Given the description of an element on the screen output the (x, y) to click on. 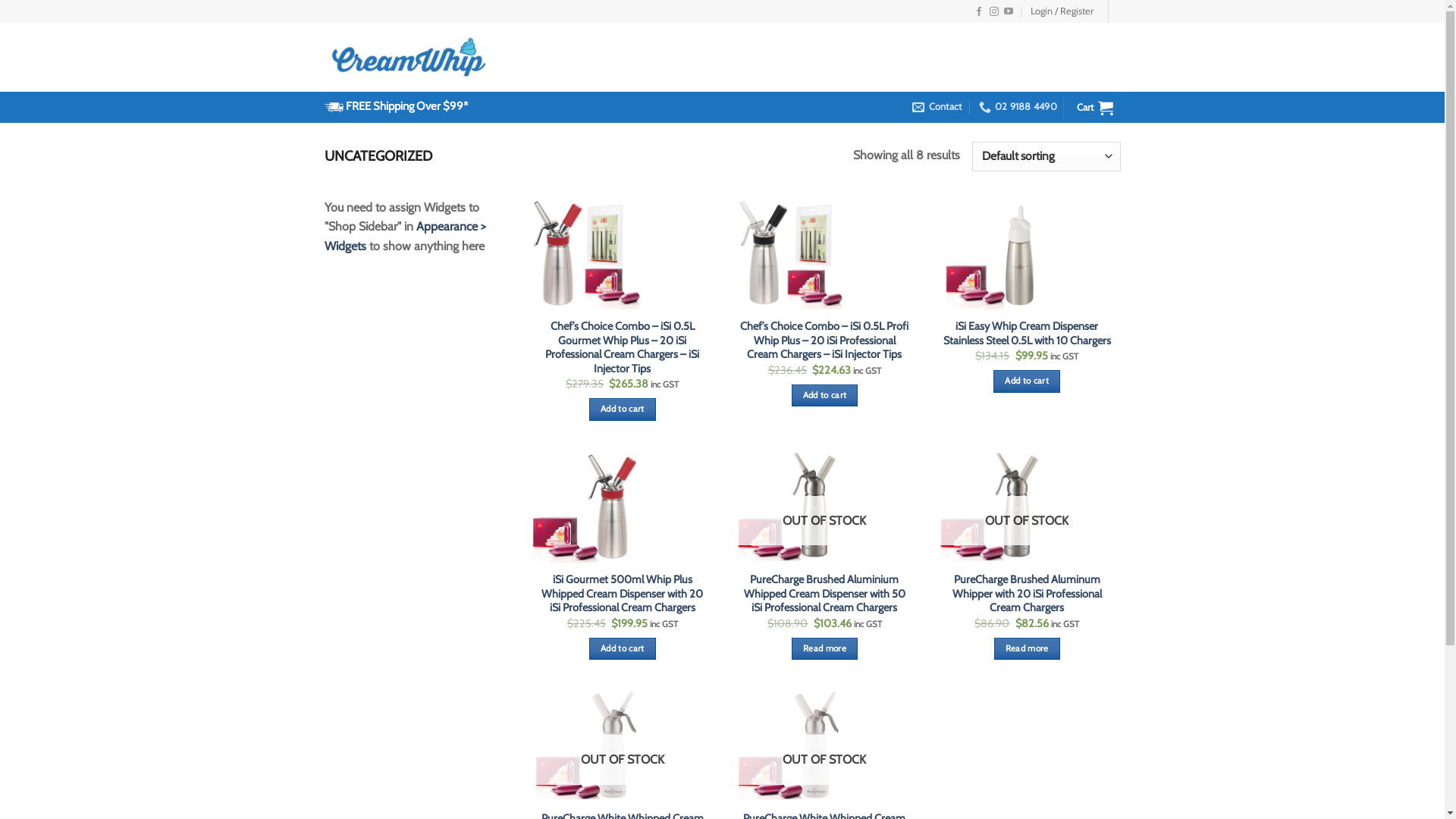
Appearance > Widgets Element type: text (405, 236)
Read more Element type: text (824, 648)
Add to cart Element type: text (622, 409)
Login / Register Element type: text (1061, 11)
Add to cart Element type: text (622, 648)
Skip to content Element type: text (0, 0)
CreamWhip Element type: hover (409, 57)
Read more Element type: text (1027, 648)
Cart Element type: text (1094, 107)
Add to cart Element type: text (1026, 381)
02 9188 4490 Element type: text (1018, 106)
Add to cart Element type: text (824, 395)
FREE Shipping Over $99* Element type: text (406, 105)
Contact Element type: text (936, 106)
